Given the description of an element on the screen output the (x, y) to click on. 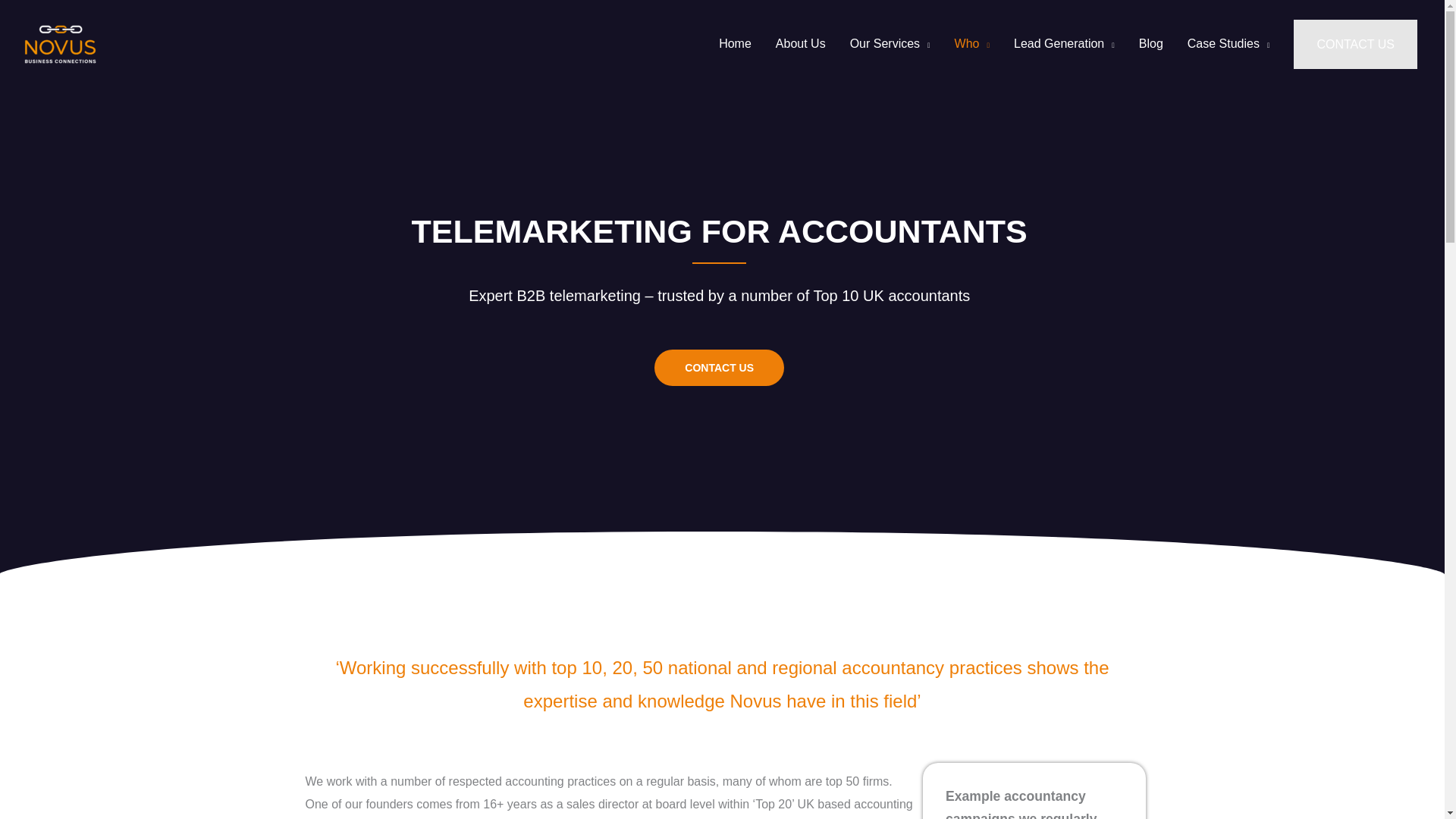
CONTACT US (718, 367)
Blog (1150, 44)
Home (734, 44)
Lead Generation (1063, 44)
About Us (800, 44)
CONTACT US (1355, 44)
Our Services (890, 44)
Case Studies (1228, 44)
Who (971, 44)
